Given the description of an element on the screen output the (x, y) to click on. 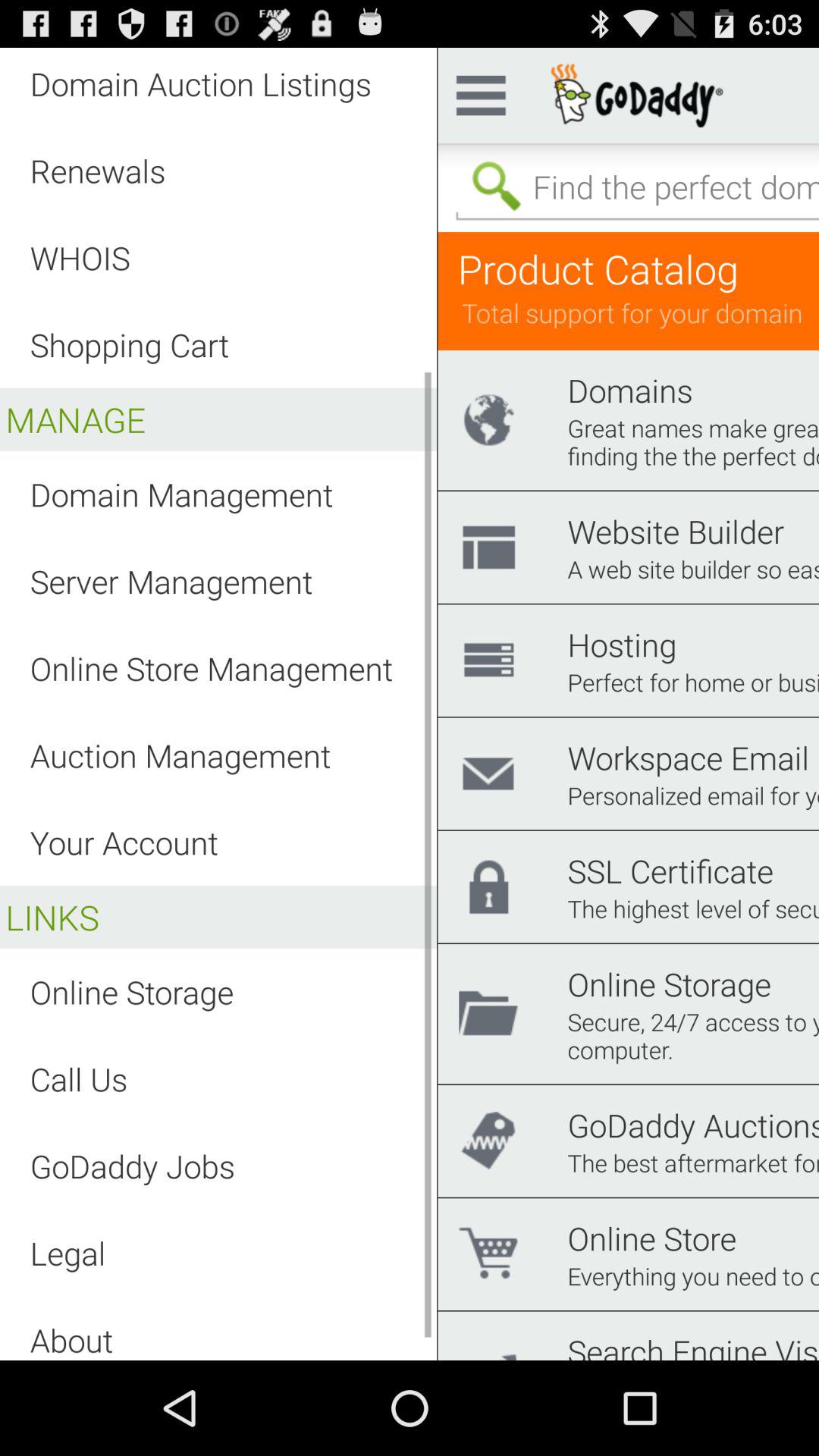
choose the renewals item (97, 170)
